Given the description of an element on the screen output the (x, y) to click on. 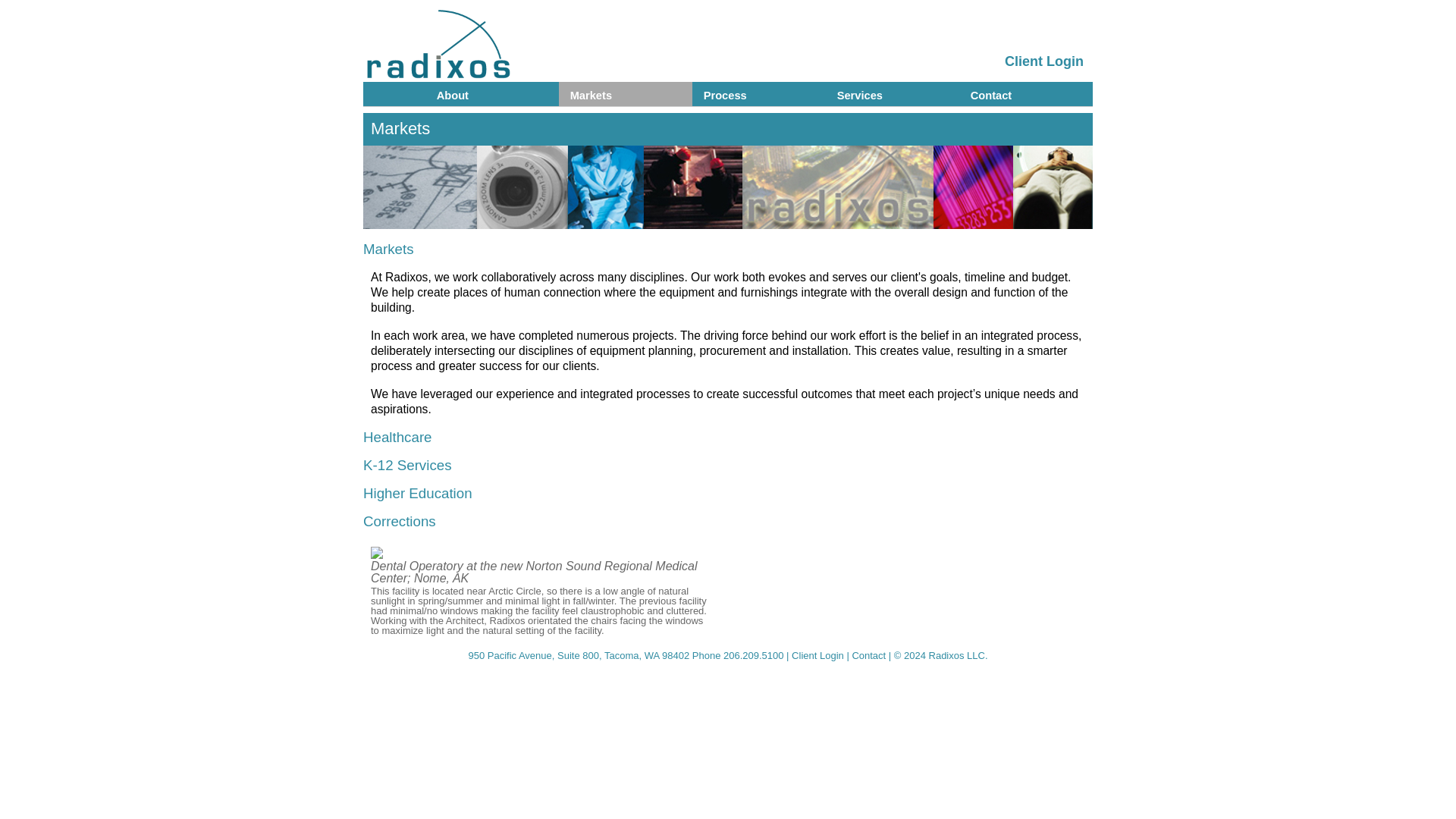
Services (890, 91)
Client Login (818, 655)
Higher Education (416, 493)
About (489, 91)
K-12 Services (406, 465)
Healthcare (397, 437)
Contact (869, 655)
Process (757, 91)
Contact (1023, 91)
Client Login (1043, 61)
Markets (623, 91)
Corrections (398, 521)
